Given the description of an element on the screen output the (x, y) to click on. 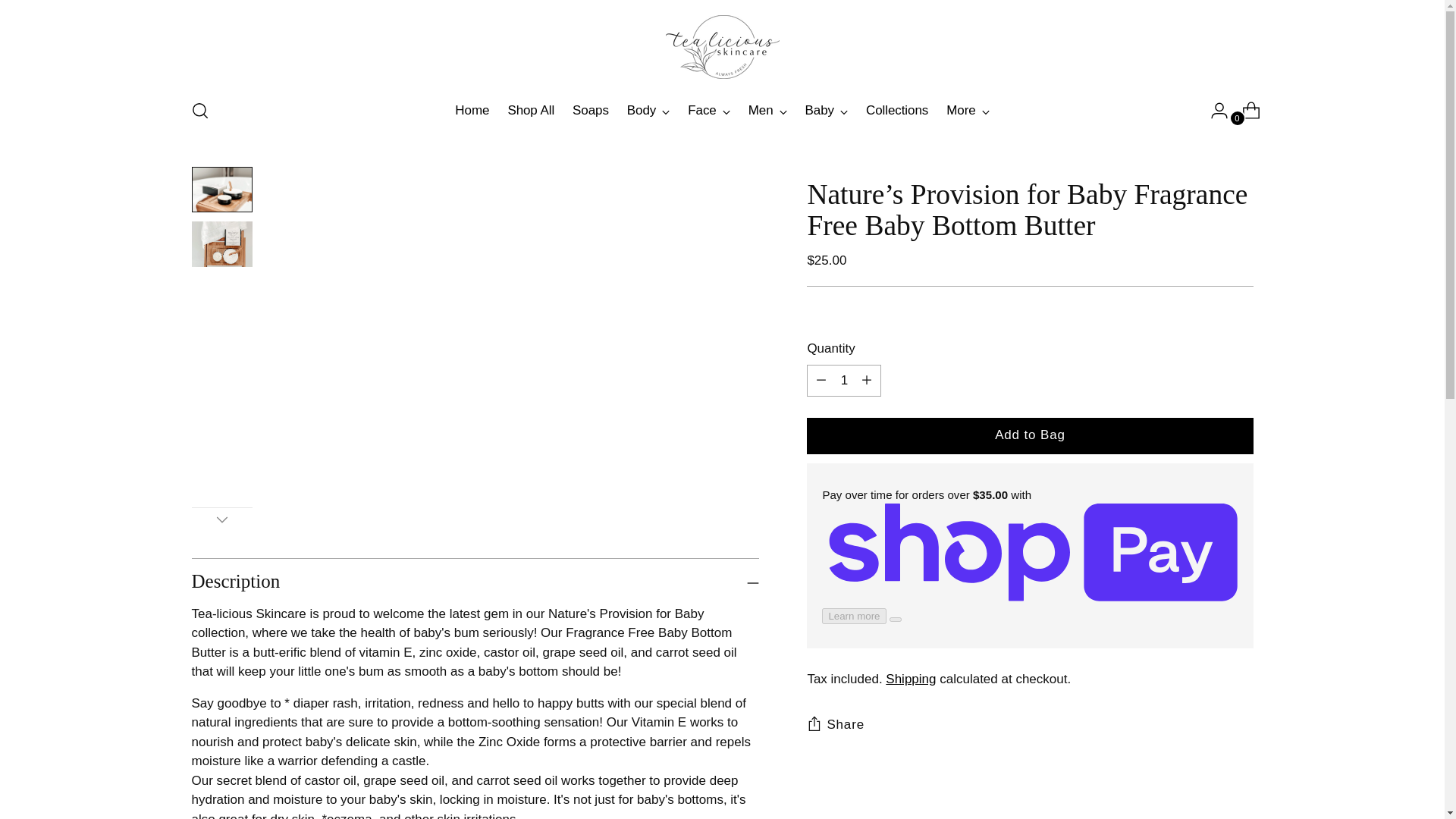
Soaps (590, 110)
More (967, 110)
Men (760, 110)
More (960, 110)
Men (767, 110)
Baby (819, 110)
Baby (826, 110)
Collections (897, 110)
Shop All (530, 110)
